Given the description of an element on the screen output the (x, y) to click on. 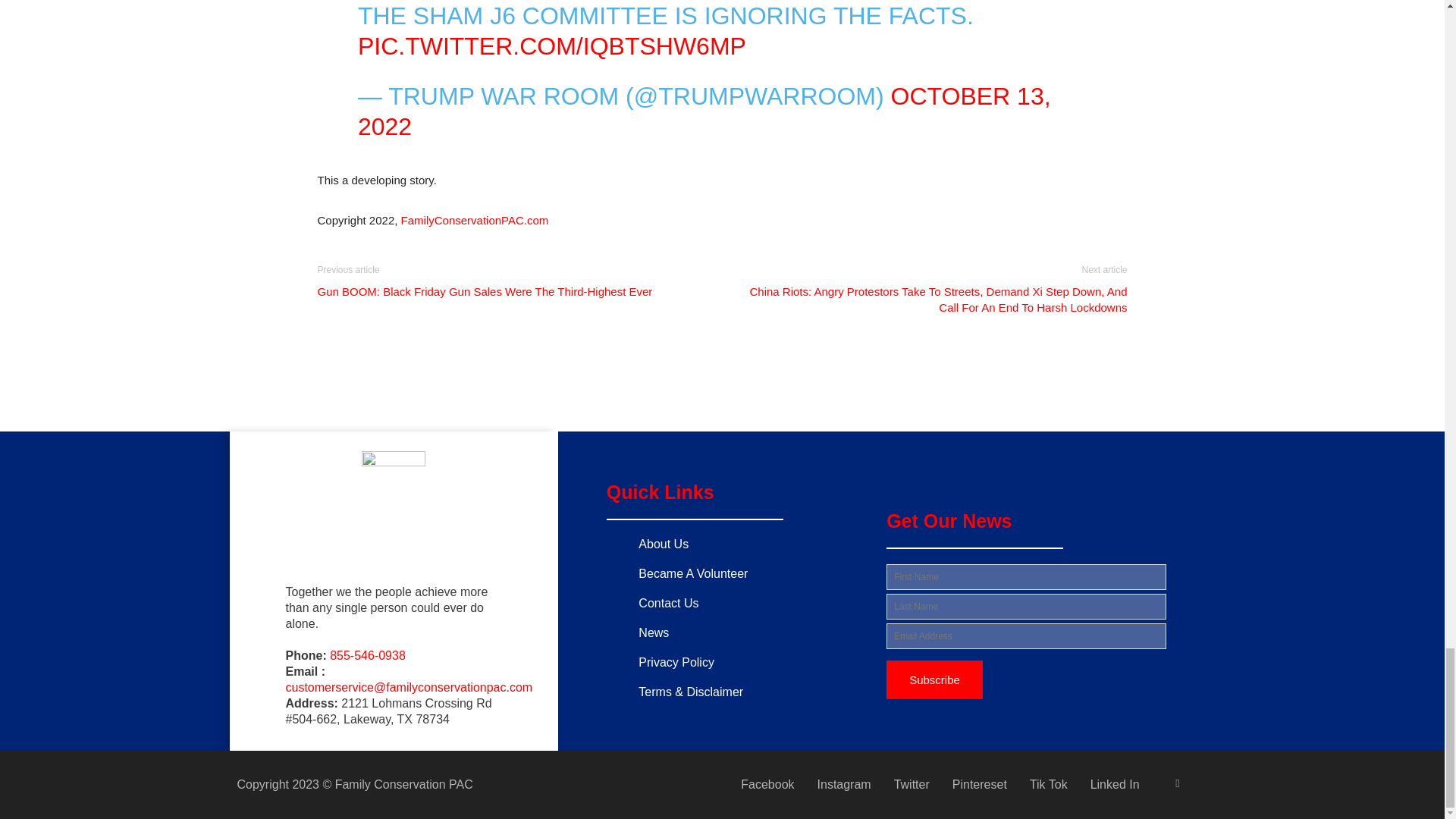
Gun BOOM: Black Friday Gun Sales Were The Third-Highest Ever (484, 291)
FamilyConservationPAC.com (474, 219)
OCTOBER 13, 2022 (704, 111)
855-546-0938 (368, 655)
Subscribe (934, 679)
